Given the description of an element on the screen output the (x, y) to click on. 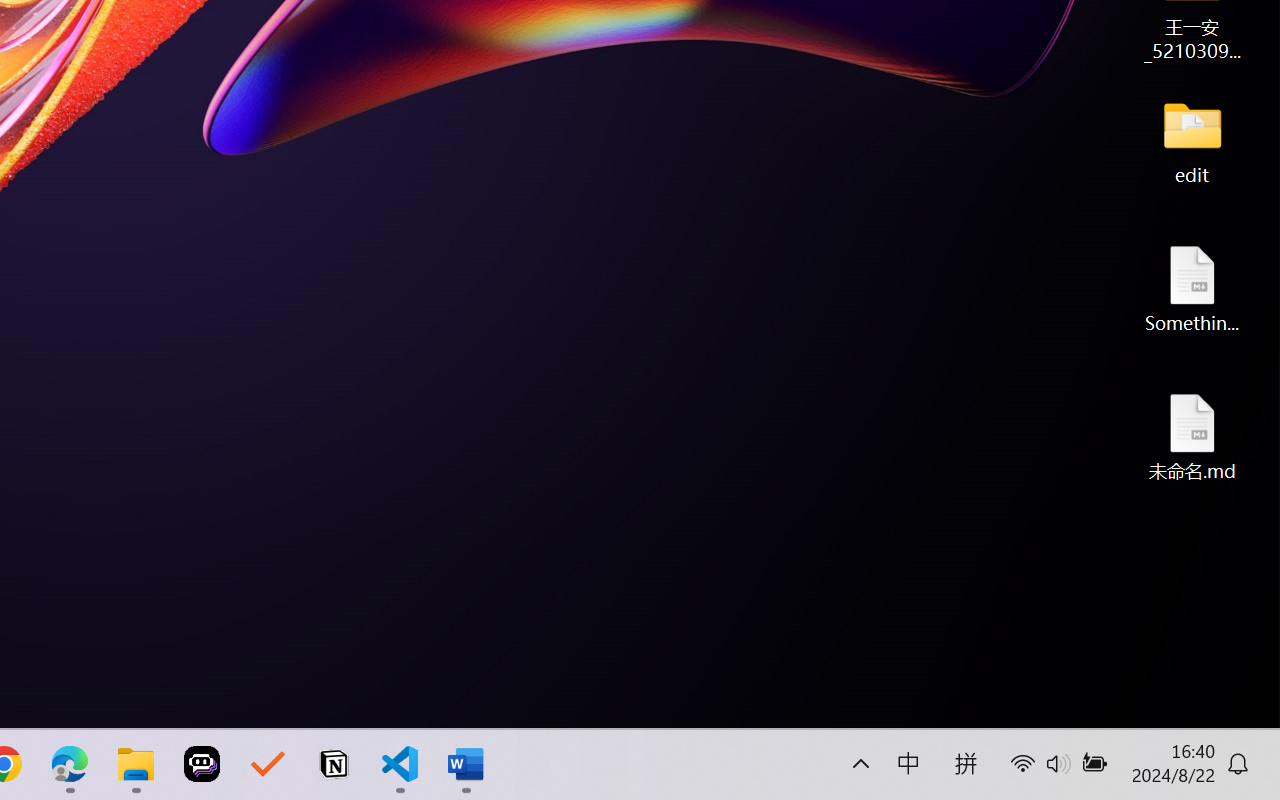
Notion (333, 764)
